Given the description of an element on the screen output the (x, y) to click on. 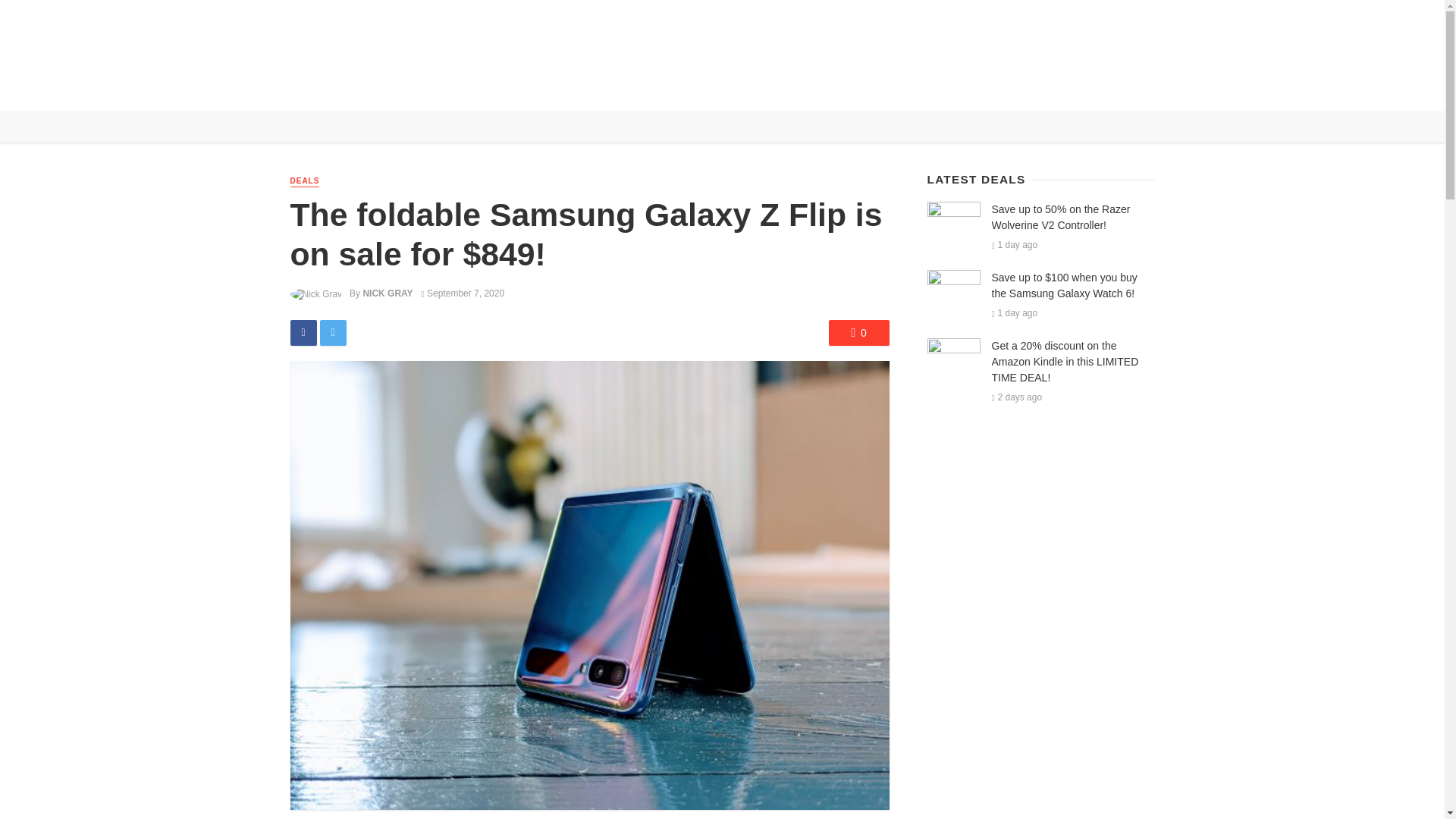
Share on Facebook (302, 332)
Share on Twitter (333, 332)
September 7, 2020 at 10:07 am (461, 293)
NEWS (345, 89)
DEALS (452, 89)
REVIEWS (398, 89)
DEALS (303, 181)
Posts by Nick Gray (387, 293)
NICK GRAY (387, 293)
0 (858, 332)
